Given the description of an element on the screen output the (x, y) to click on. 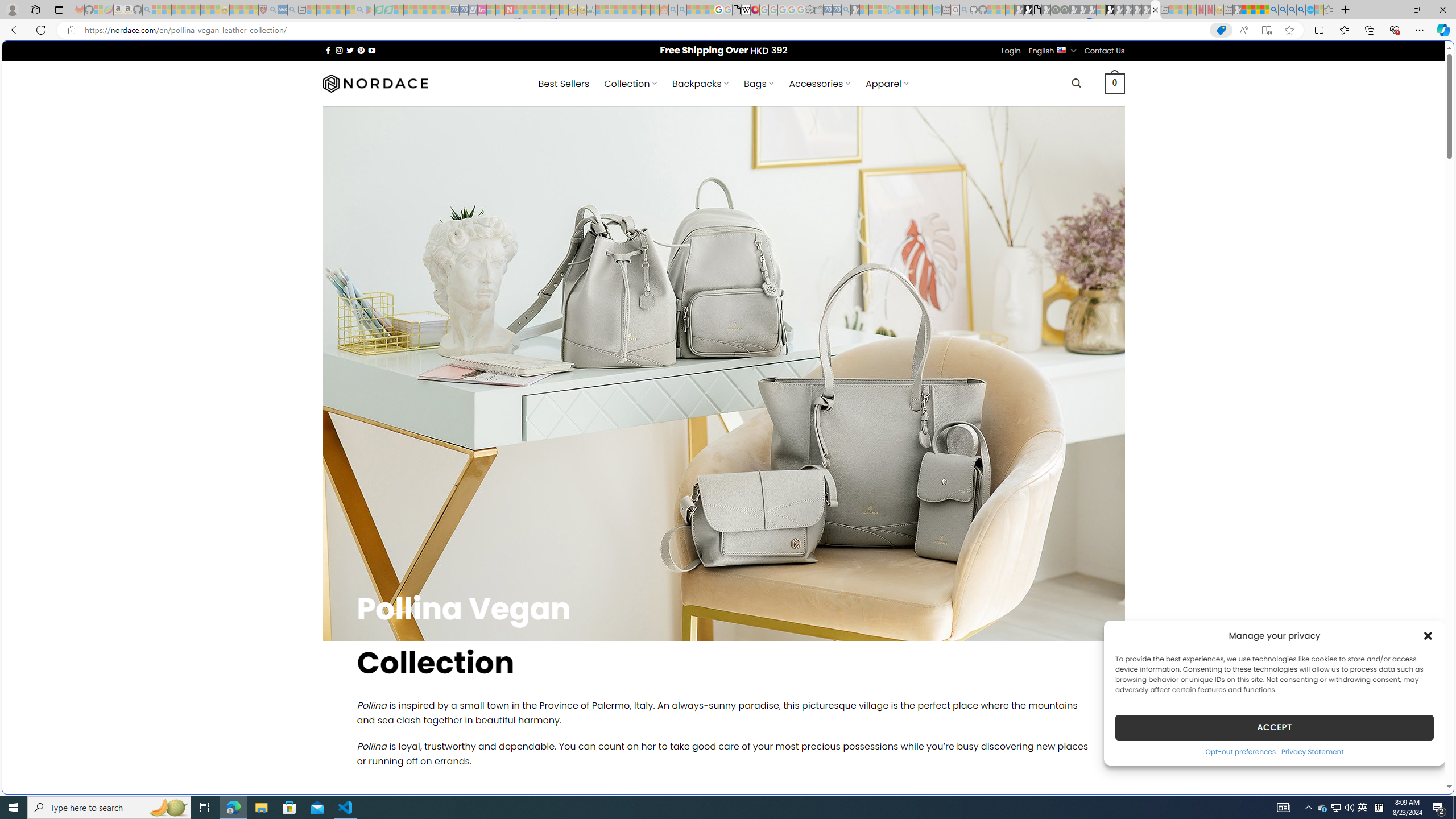
google - Search - Sleeping (359, 9)
14 Common Myths Debunked By Scientific Facts - Sleeping (527, 9)
The Weather Channel - MSN - Sleeping (175, 9)
World - MSN (727, 389)
Utah sues federal government - Search - Sleeping (681, 9)
